Given the description of an element on the screen output the (x, y) to click on. 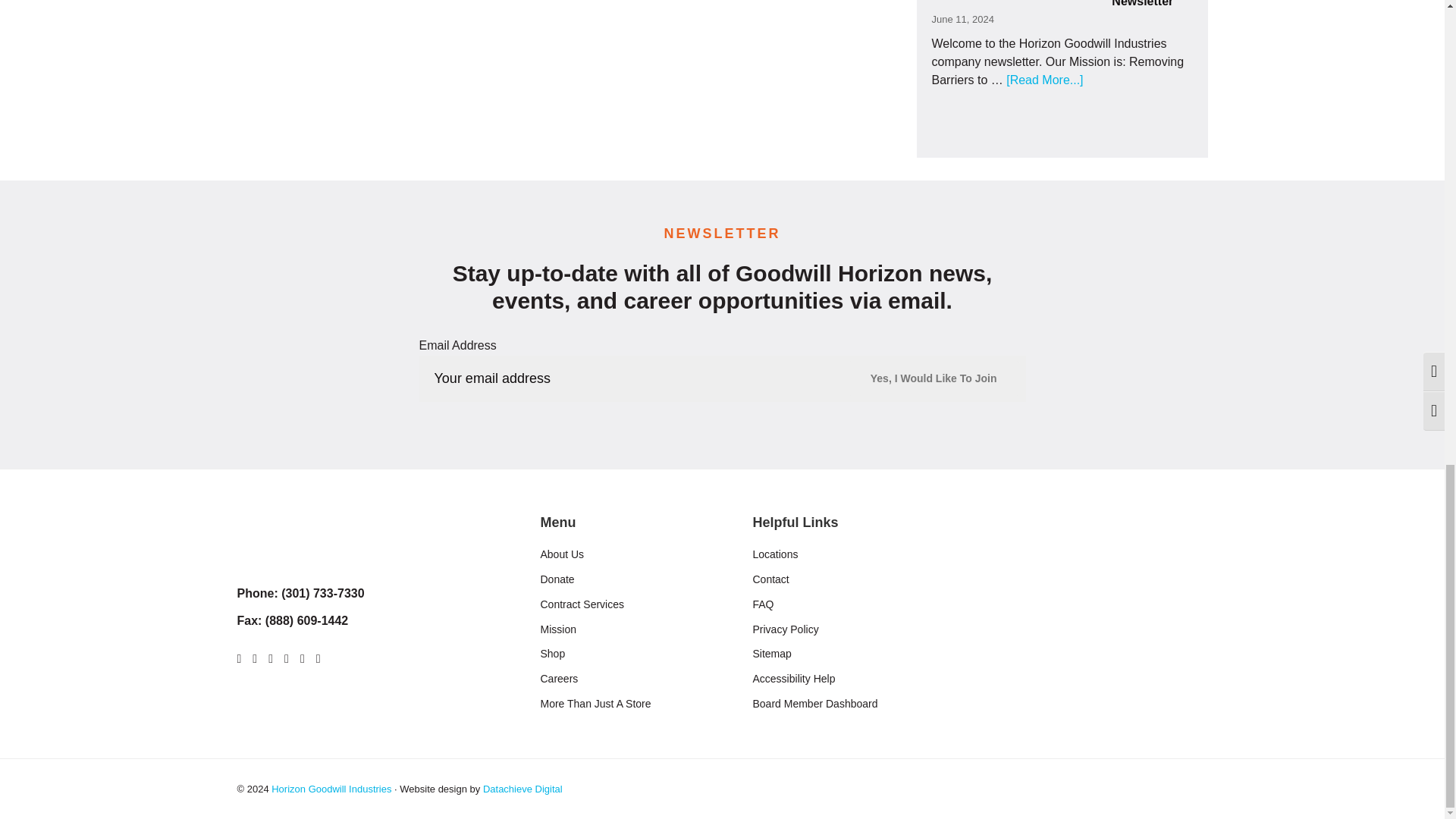
Yes, I Would Like To Join (933, 378)
